Given the description of an element on the screen output the (x, y) to click on. 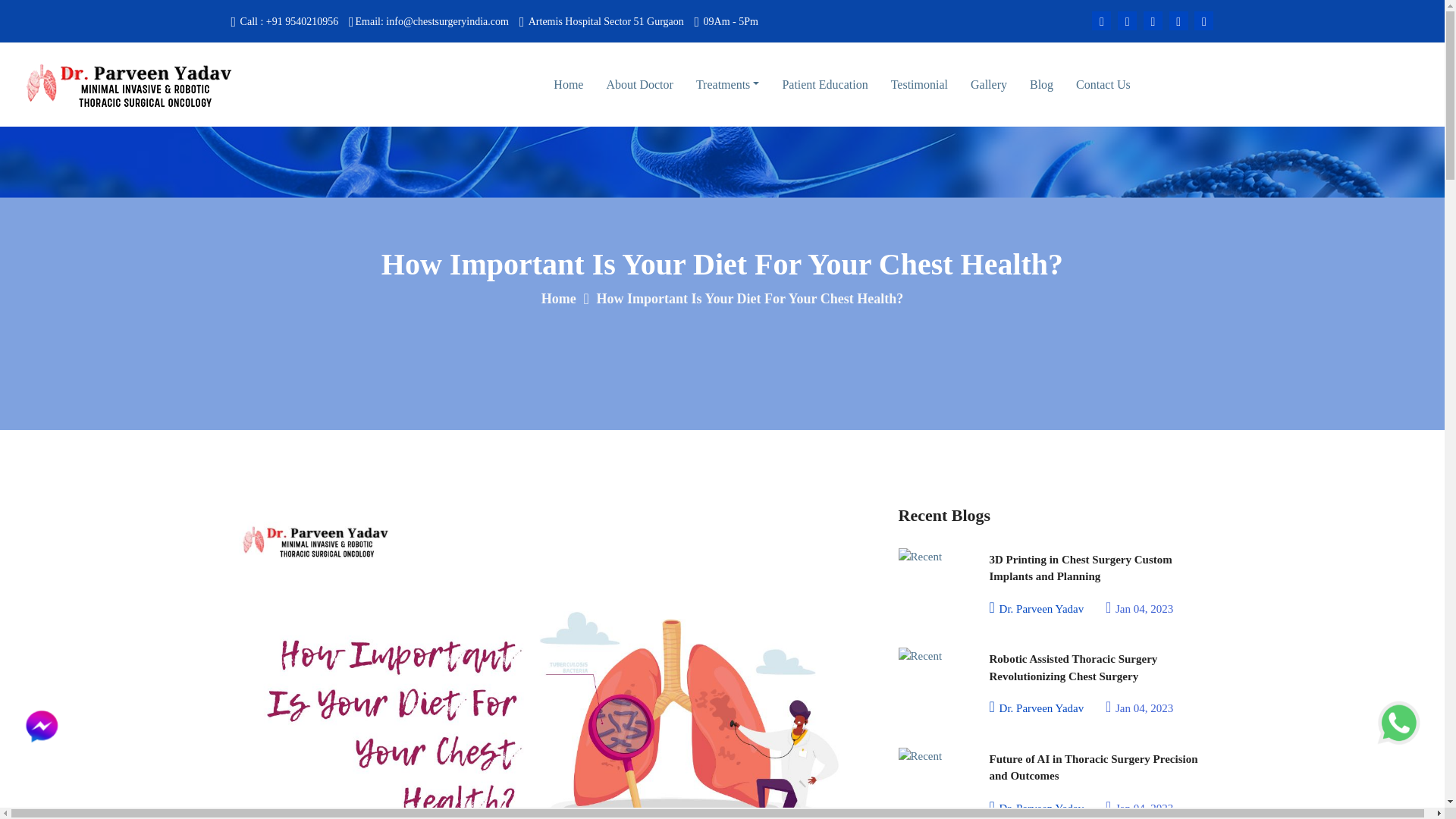
Dr. Parveen Yadav (1035, 607)
Future of AI in Thoracic Surgery Precision and Outcomes (1100, 765)
About Doctor (638, 85)
Dr. Parveen Yadav (1035, 706)
Gallery (989, 83)
Patient Education (824, 83)
Treatments (726, 85)
Dr. Parveen Yadav (1035, 806)
Contact Us (1103, 85)
Testimonial (919, 83)
Home (558, 299)
3D Printing in Chest Surgery Custom Implants and Planning (1100, 566)
Blog (1040, 83)
Home (568, 83)
